Given the description of an element on the screen output the (x, y) to click on. 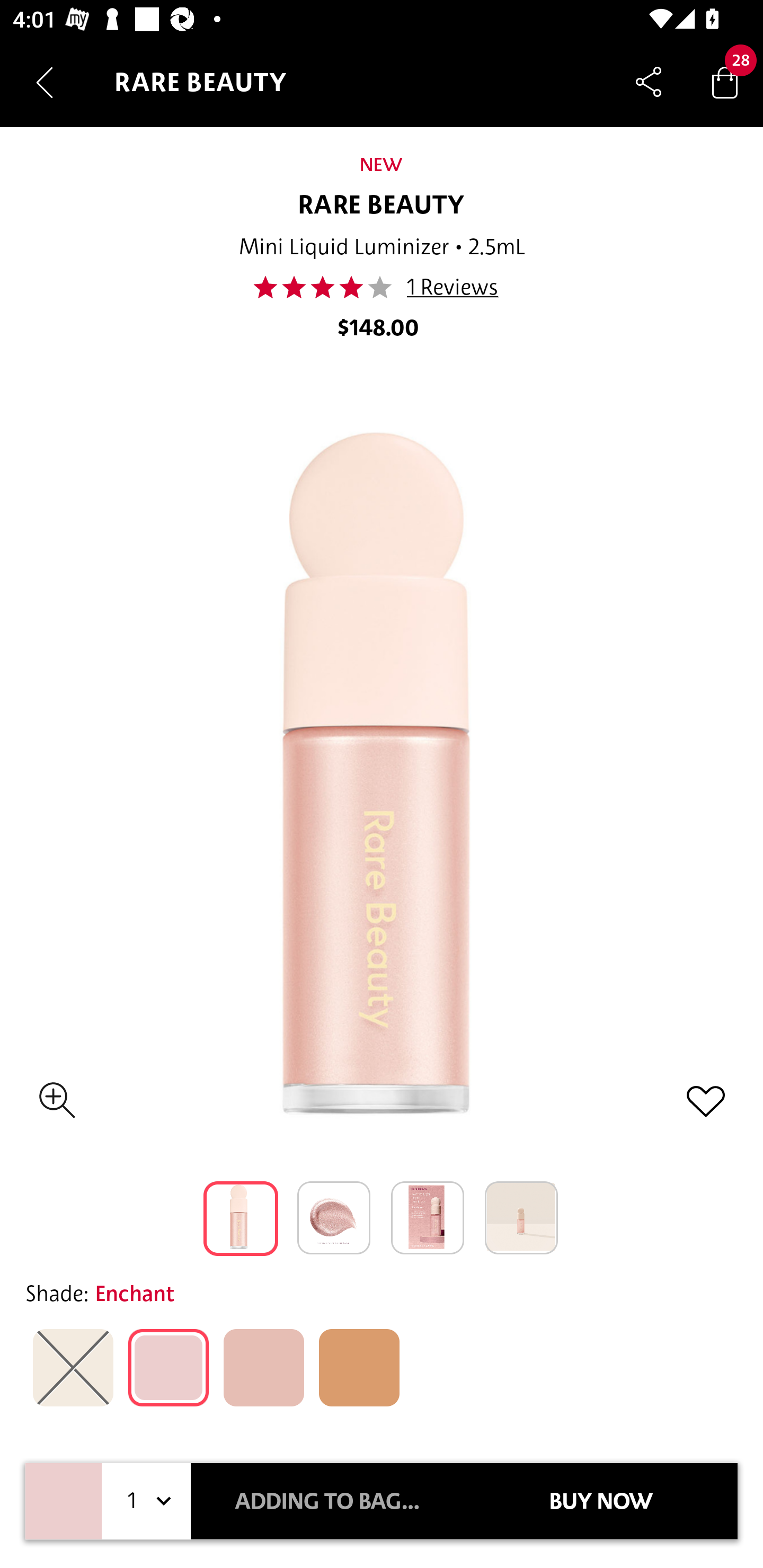
Navigate up (44, 82)
Share (648, 81)
Bag (724, 81)
RARE BEAUTY (381, 205)
40.0 1 Reviews (381, 286)
1 (145, 1500)
ADDING TO BAG… (326, 1500)
BUY NOW (600, 1500)
